Given the description of an element on the screen output the (x, y) to click on. 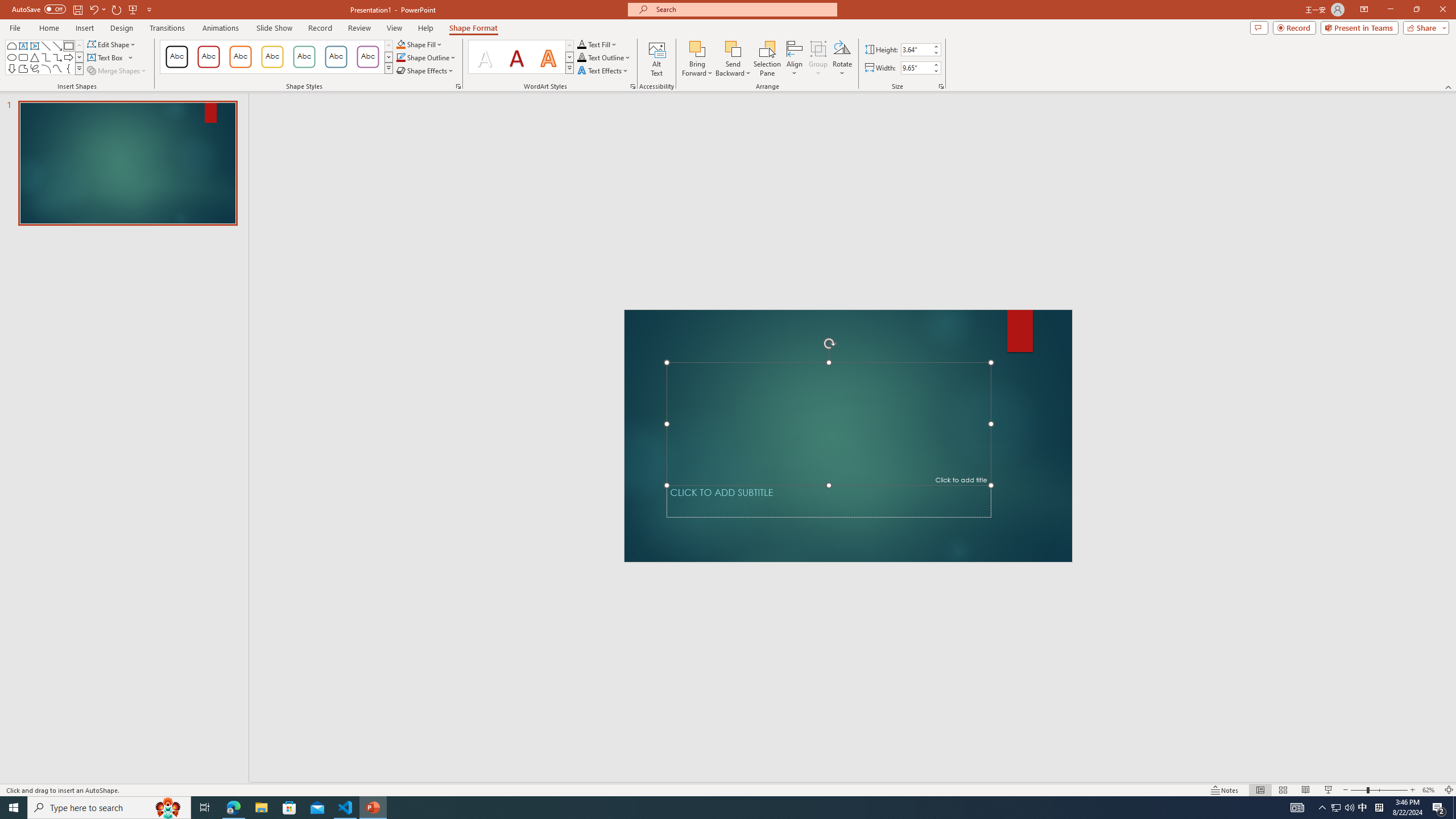
Merge Shapes (117, 69)
Colored Outline - Black, Dark 1 (176, 56)
